Given the description of an element on the screen output the (x, y) to click on. 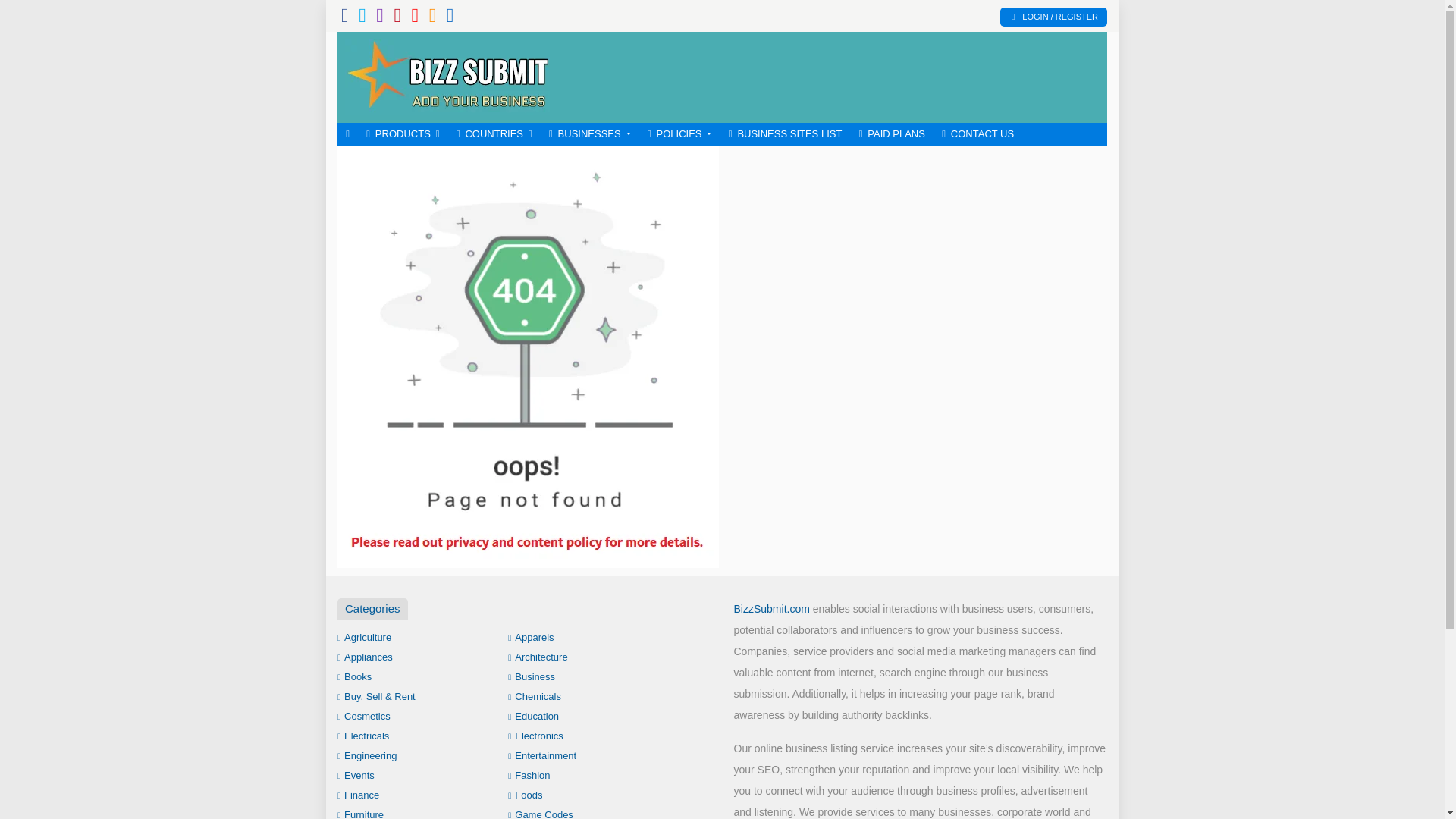
PRODUCTS (403, 134)
COUNTRIES (494, 134)
Get New Customers Online by Submitting Business Articles (447, 75)
